Given the description of an element on the screen output the (x, y) to click on. 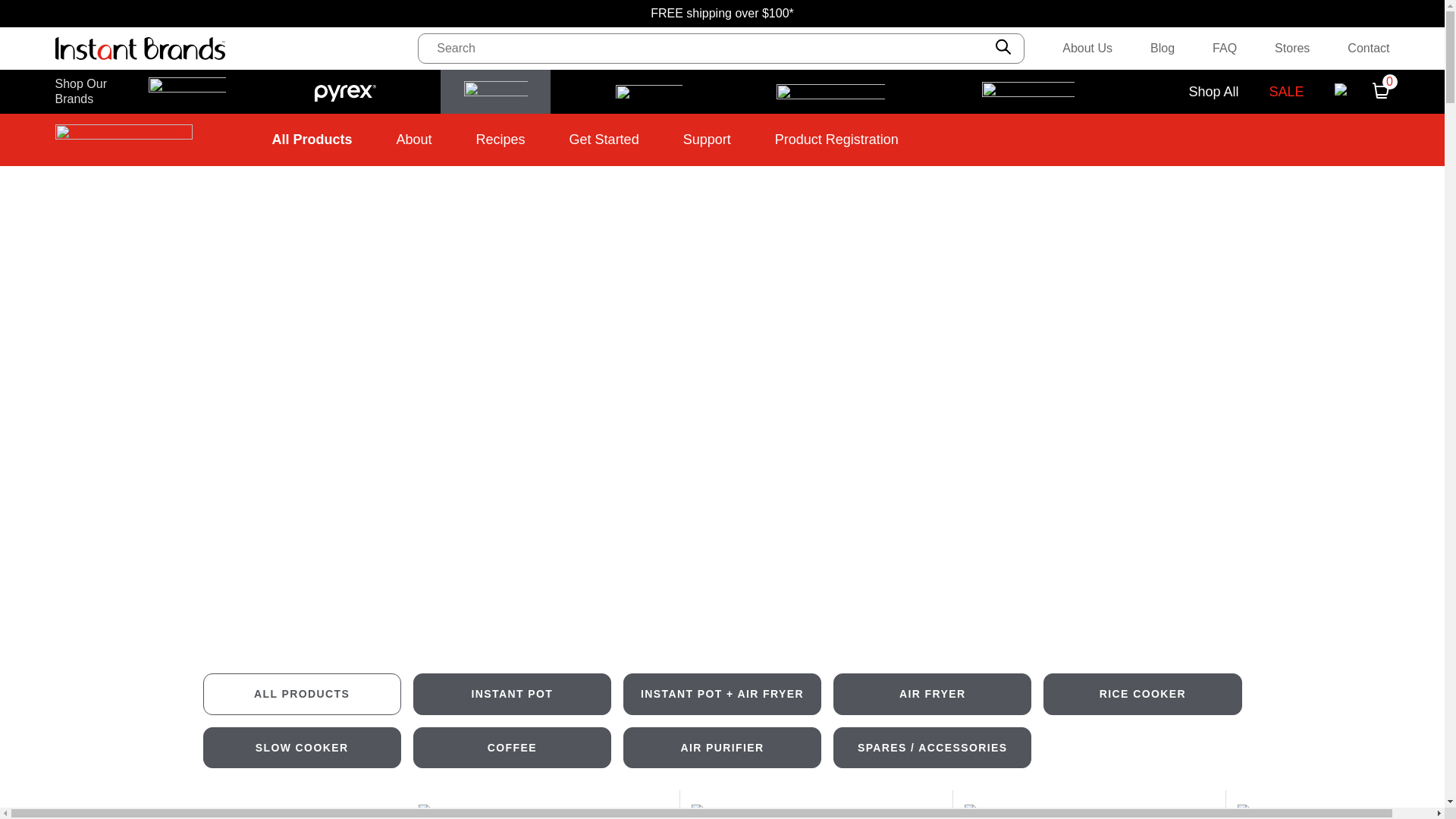
Stores (1291, 48)
About Us (1087, 48)
SALE (1285, 92)
Contact (1368, 48)
Shop All (1213, 92)
